Given the description of an element on the screen output the (x, y) to click on. 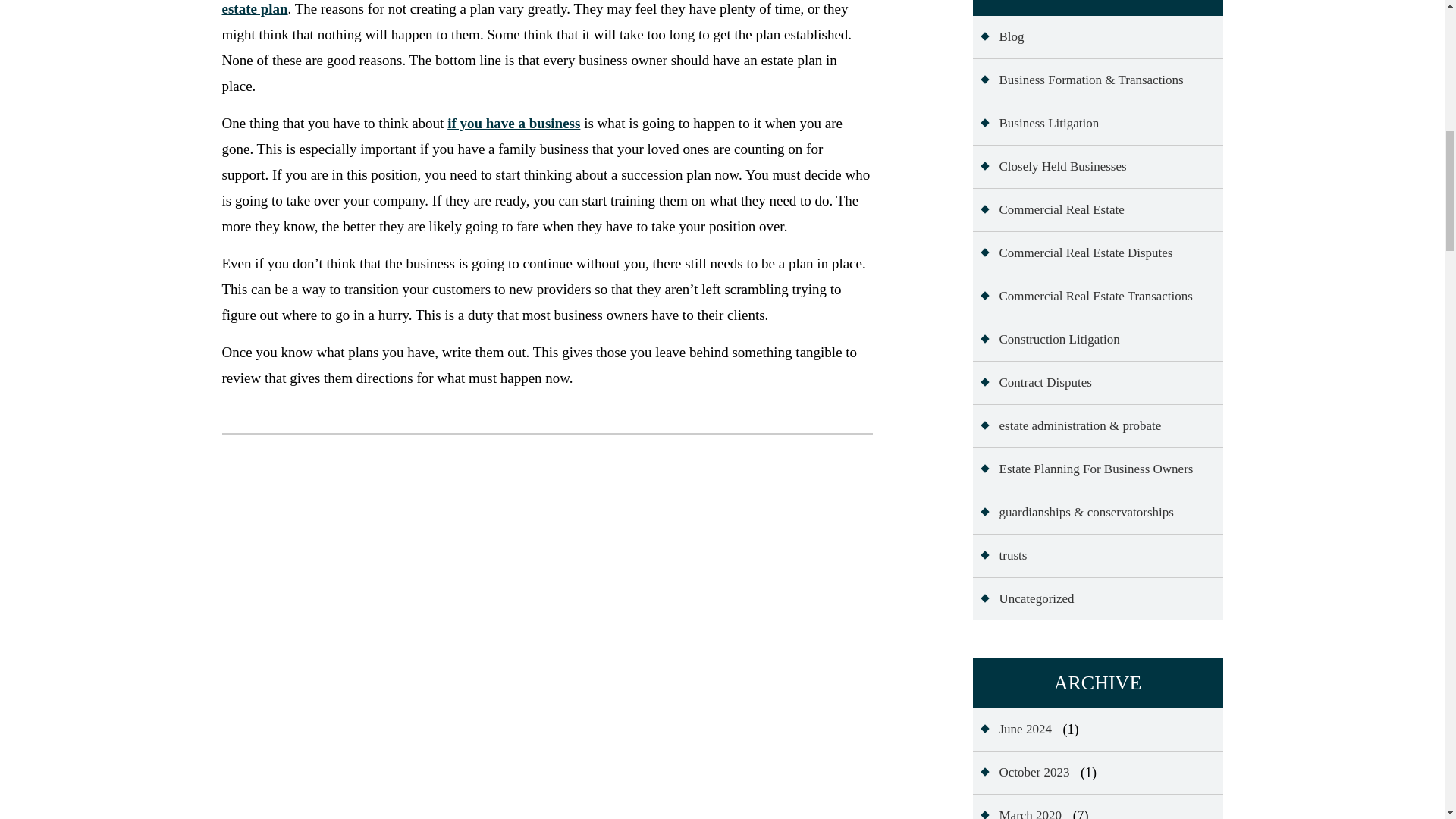
Uncategorized (1026, 598)
Commercial Real Estate Disputes (1075, 252)
if you have a business (512, 123)
Blog (1001, 36)
Construction Litigation (1049, 339)
Business Litigation (1039, 123)
trusts (1002, 555)
Contract Disputes (1035, 382)
Estate Planning For Business Owners (1085, 468)
Commercial Real Estate (1051, 209)
Closely Held Businesses (1053, 166)
Commercial Real Estate Transactions (1085, 296)
estate plan (253, 11)
